Given the description of an element on the screen output the (x, y) to click on. 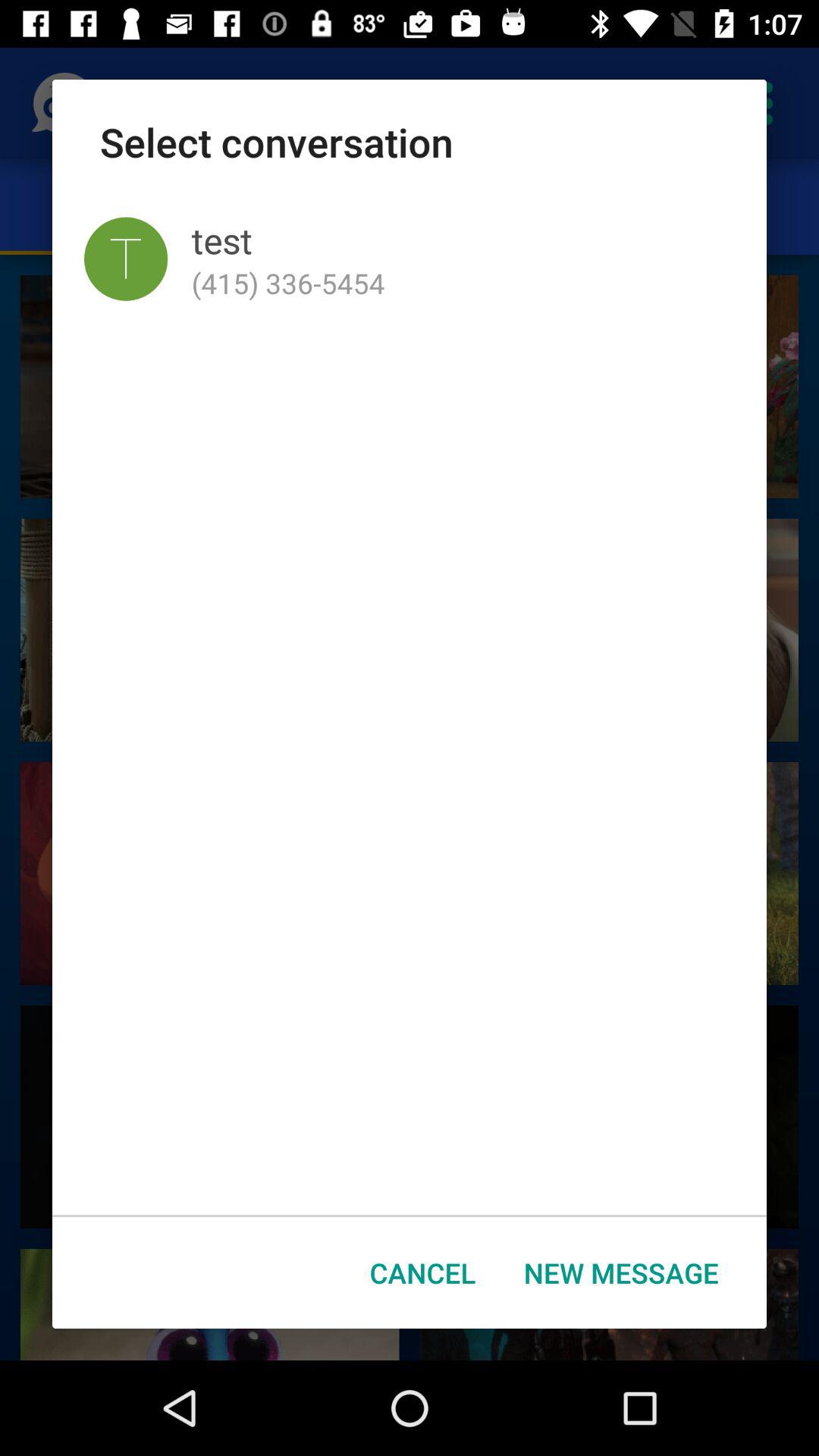
click icon below select conversation item (125, 258)
